Given the description of an element on the screen output the (x, y) to click on. 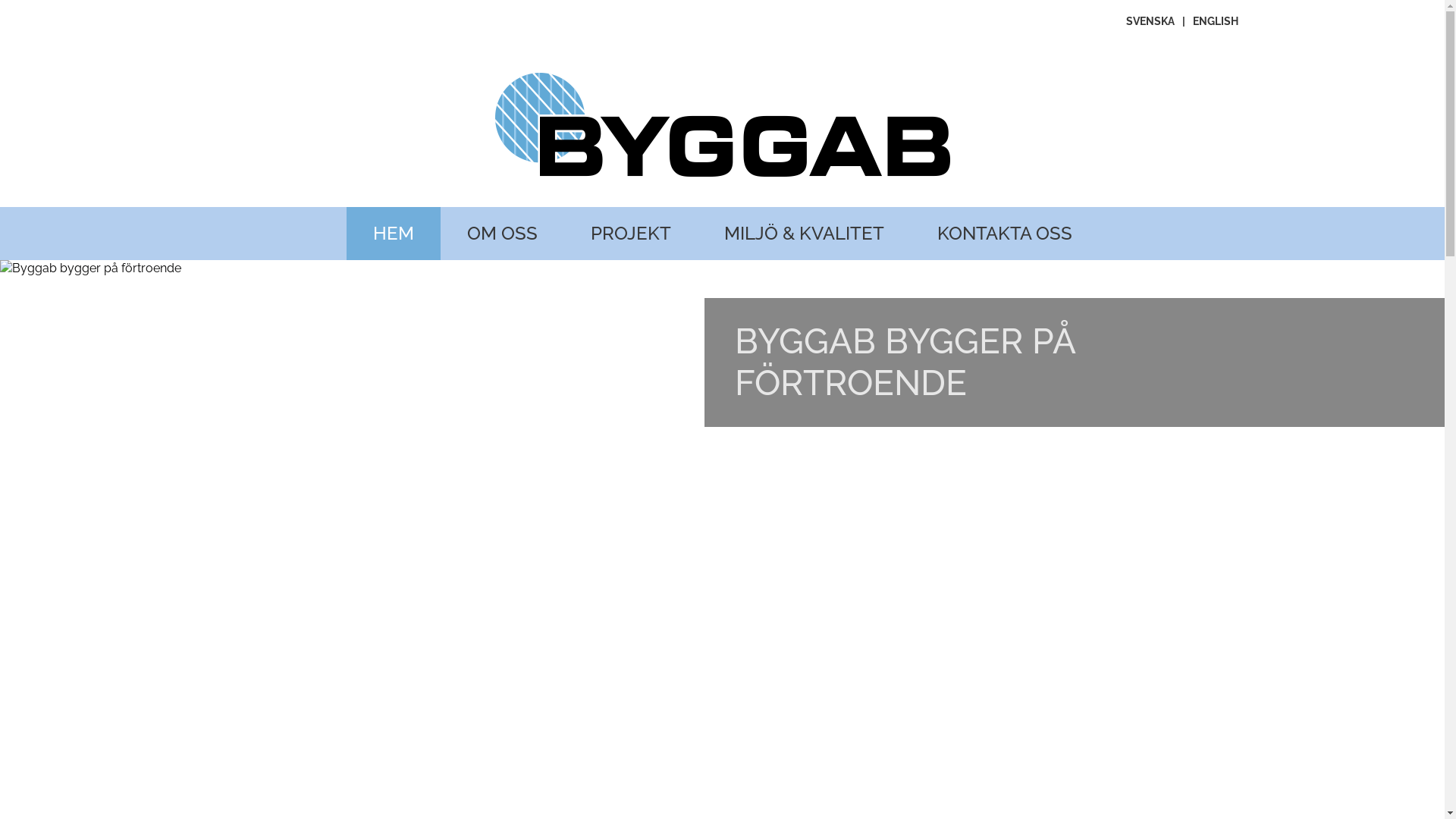
PROJEKT Element type: text (630, 233)
HEM Element type: text (392, 233)
BYGGAB Element type: text (230, 268)
SVENSKA Element type: text (1149, 21)
OM OSS Element type: text (501, 233)
KONTAKTA OSS Element type: text (1004, 233)
ENGLISH Element type: text (1214, 21)
